Given the description of an element on the screen output the (x, y) to click on. 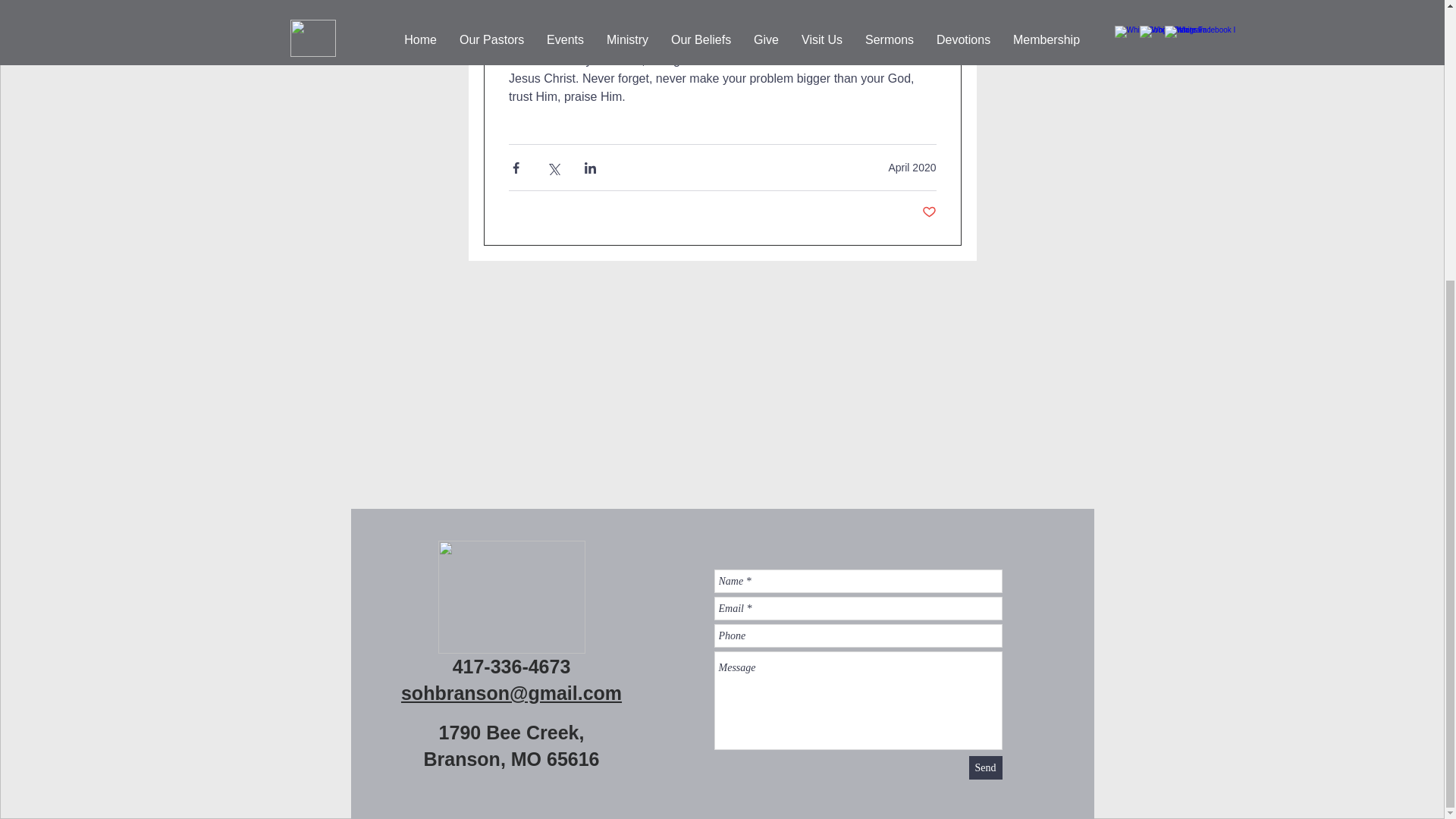
Post not marked as liked (928, 212)
Send (986, 767)
April 2020 (912, 166)
